Given the description of an element on the screen output the (x, y) to click on. 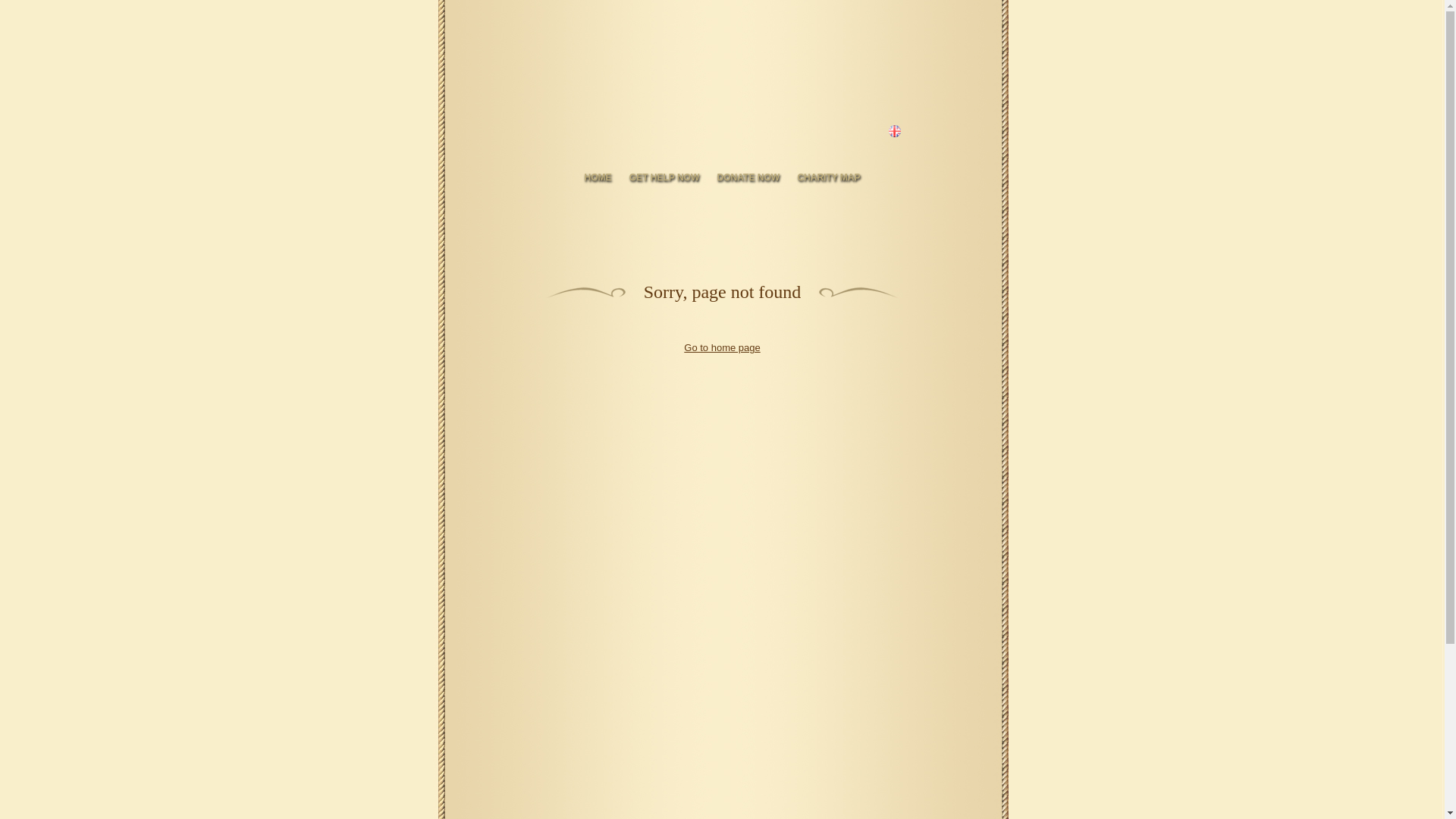
HOME (597, 178)
GET HELP NOW (663, 178)
Go to home page (722, 347)
CHARITY MAP (828, 178)
DONATE NOW (748, 178)
